Given the description of an element on the screen output the (x, y) to click on. 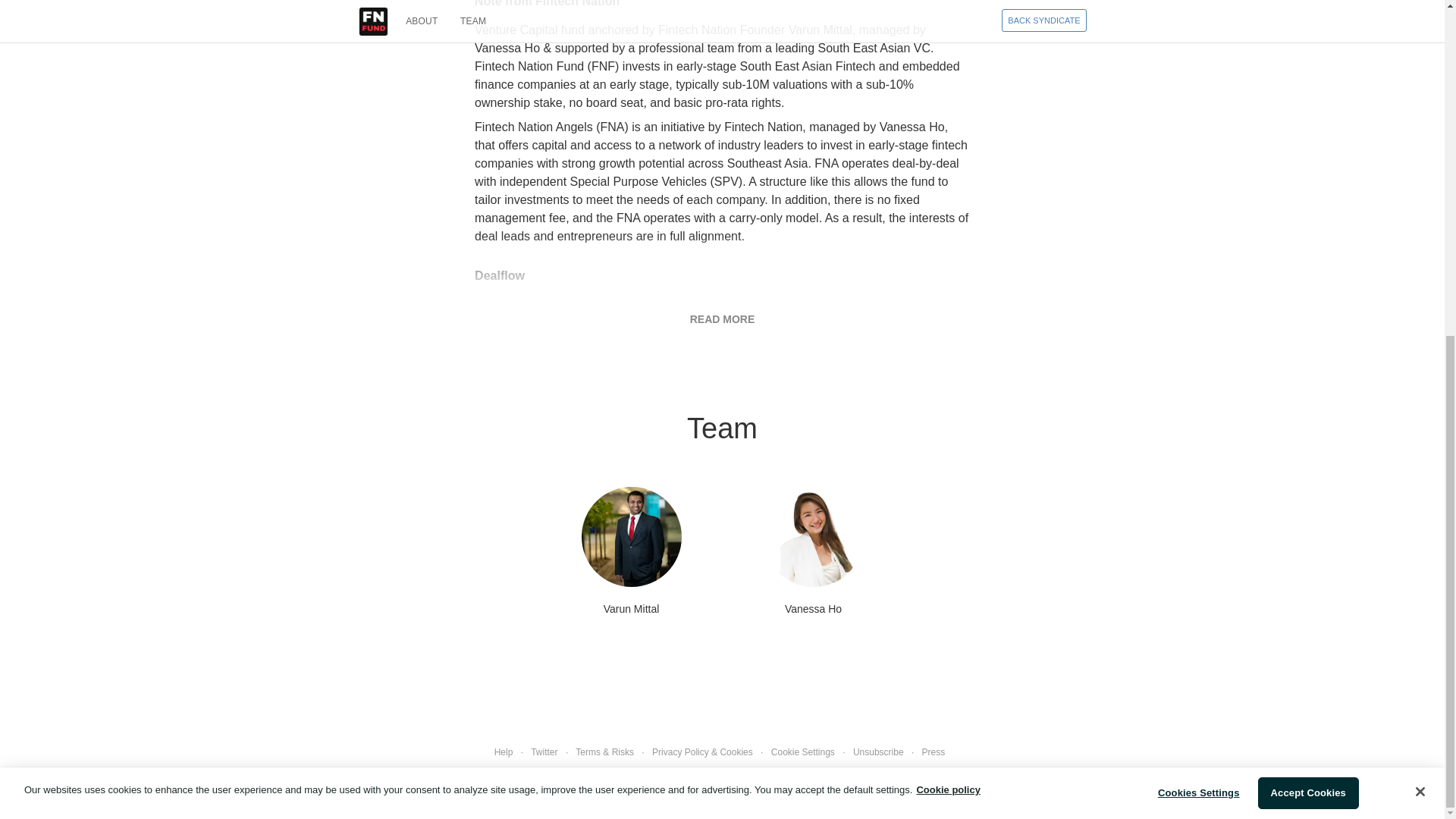
Cookie policy (947, 226)
Press (932, 751)
Cookies Settings (1198, 230)
Cookie Settings (802, 751)
Unsubscribe (878, 751)
Accept Cookies (1307, 230)
Help (504, 751)
READ MORE (722, 318)
Twitter (544, 751)
